Given the description of an element on the screen output the (x, y) to click on. 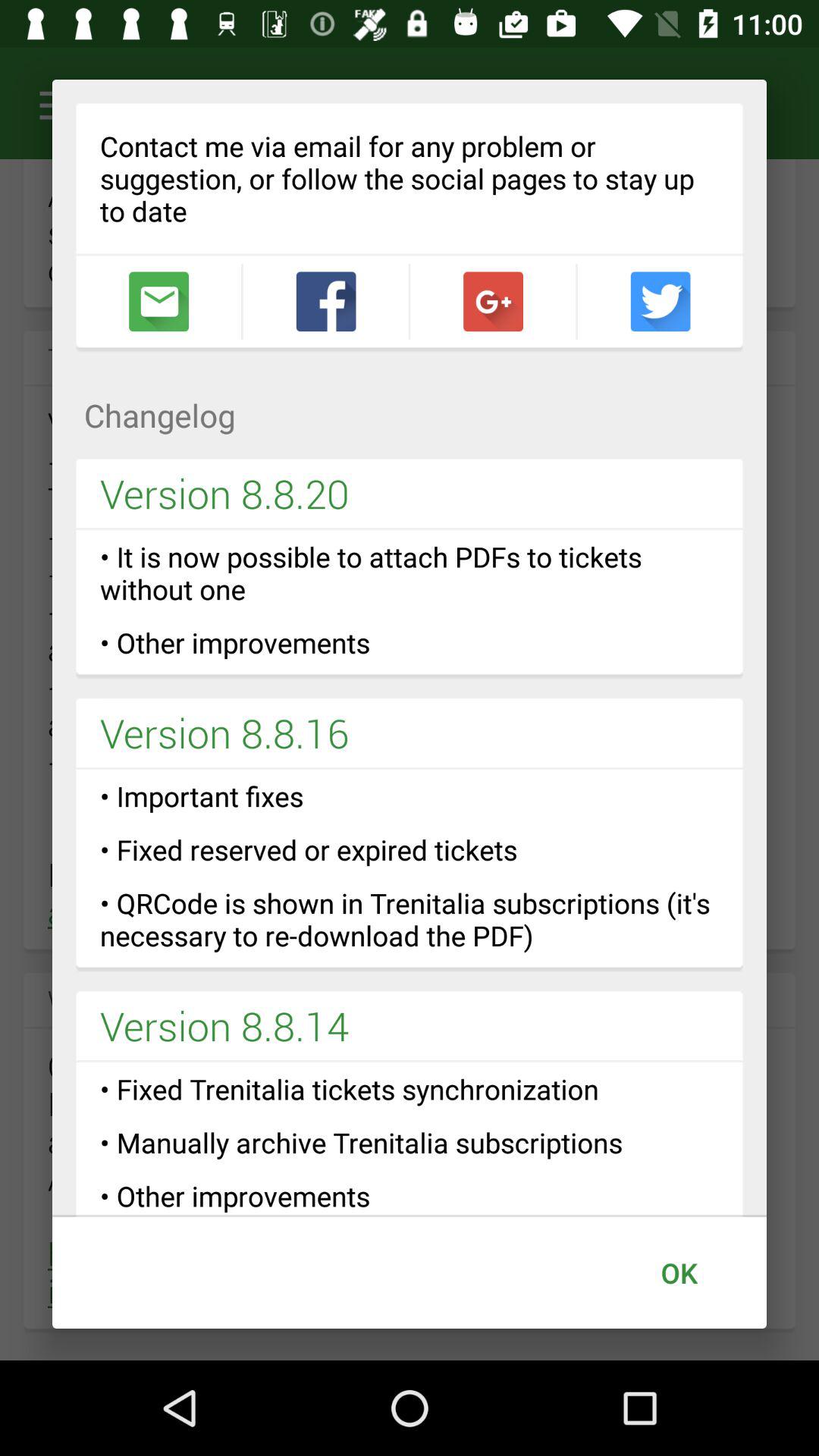
swipe until the ok icon (678, 1272)
